Given the description of an element on the screen output the (x, y) to click on. 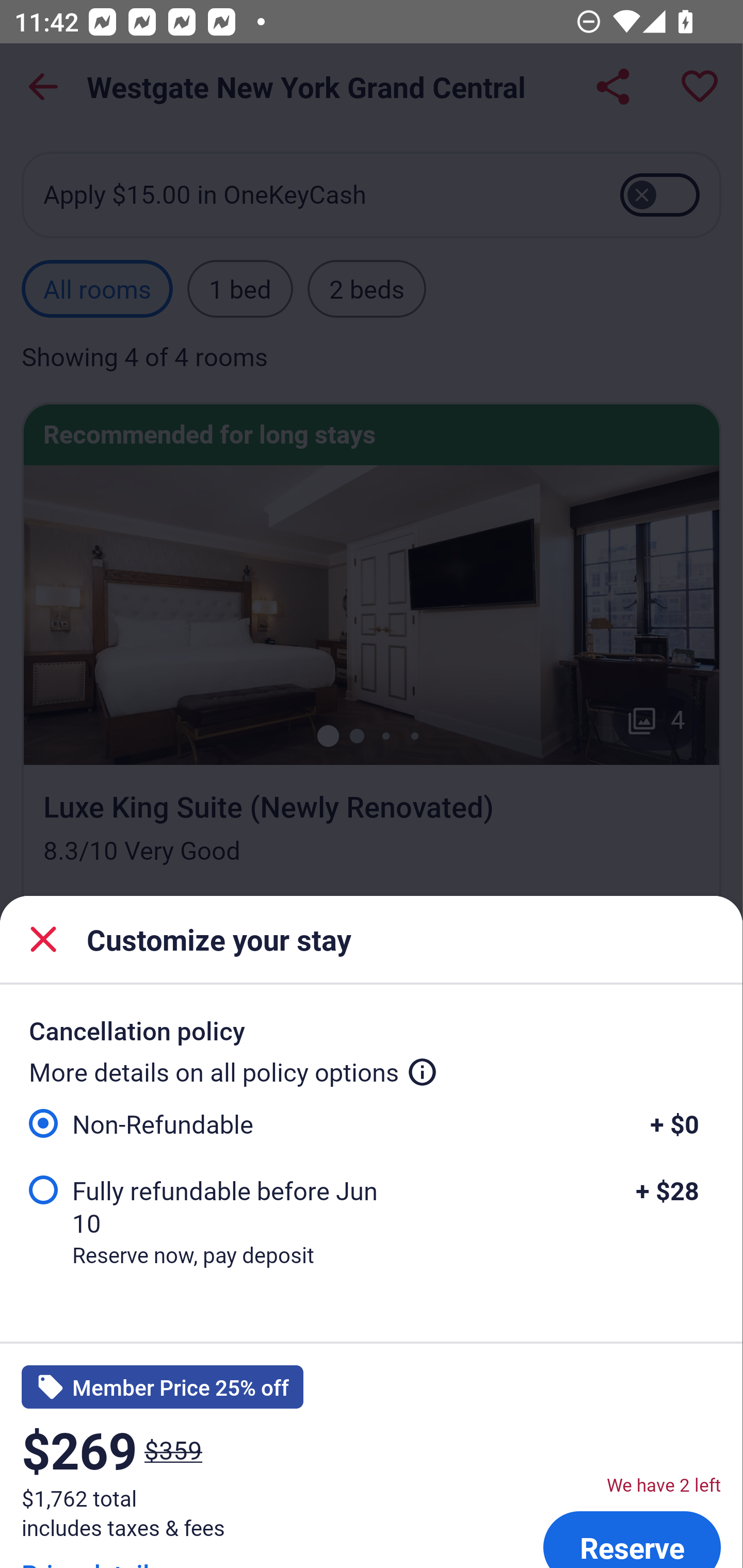
Close sheet (43, 939)
$359 The price was $359 (173, 1449)
Reserve Luxe King Suite (Newly Renovated) Reserve (631, 1535)
